Given the description of an element on the screen output the (x, y) to click on. 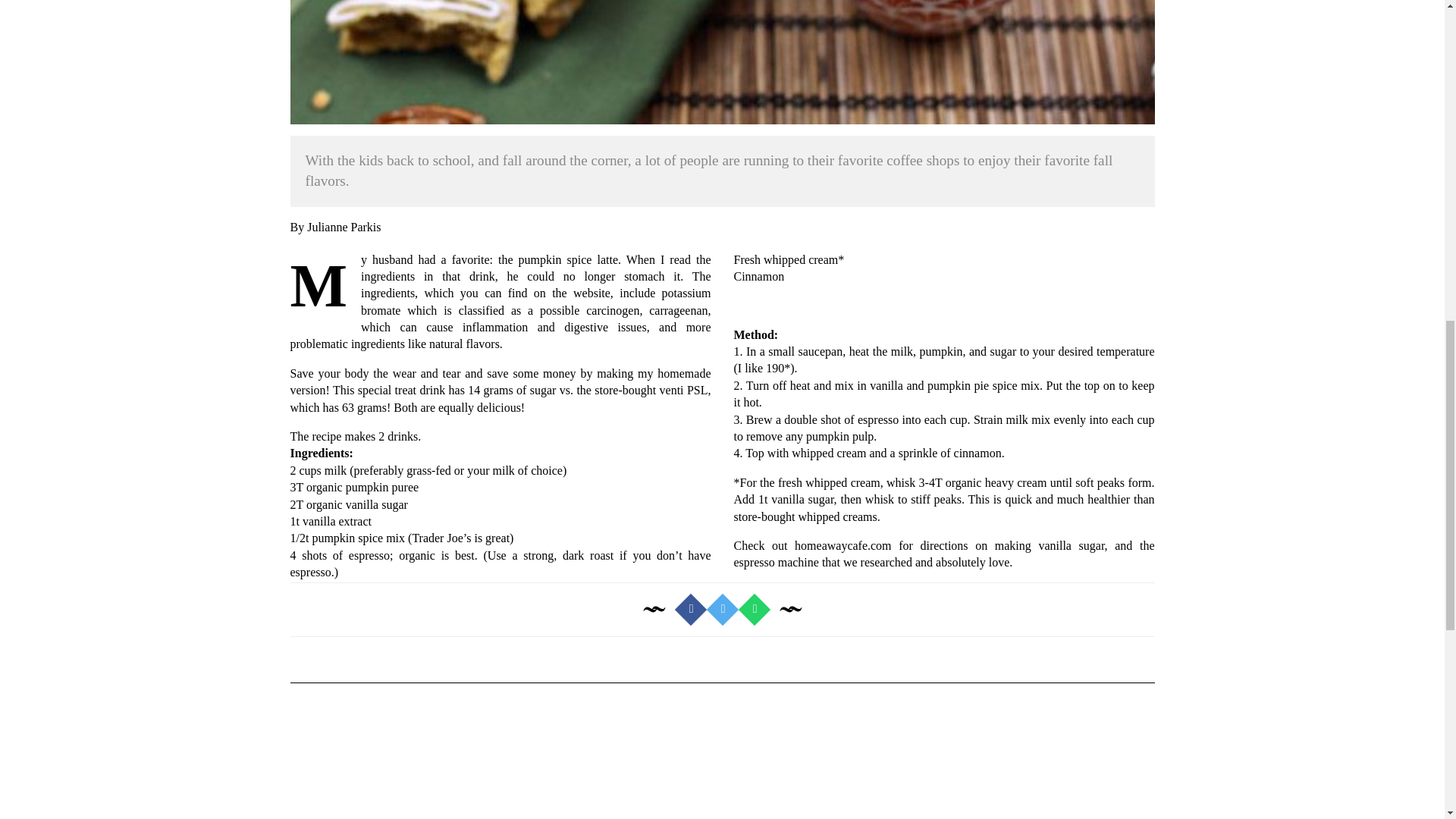
homeawaycafe.com (842, 545)
